Given the description of an element on the screen output the (x, y) to click on. 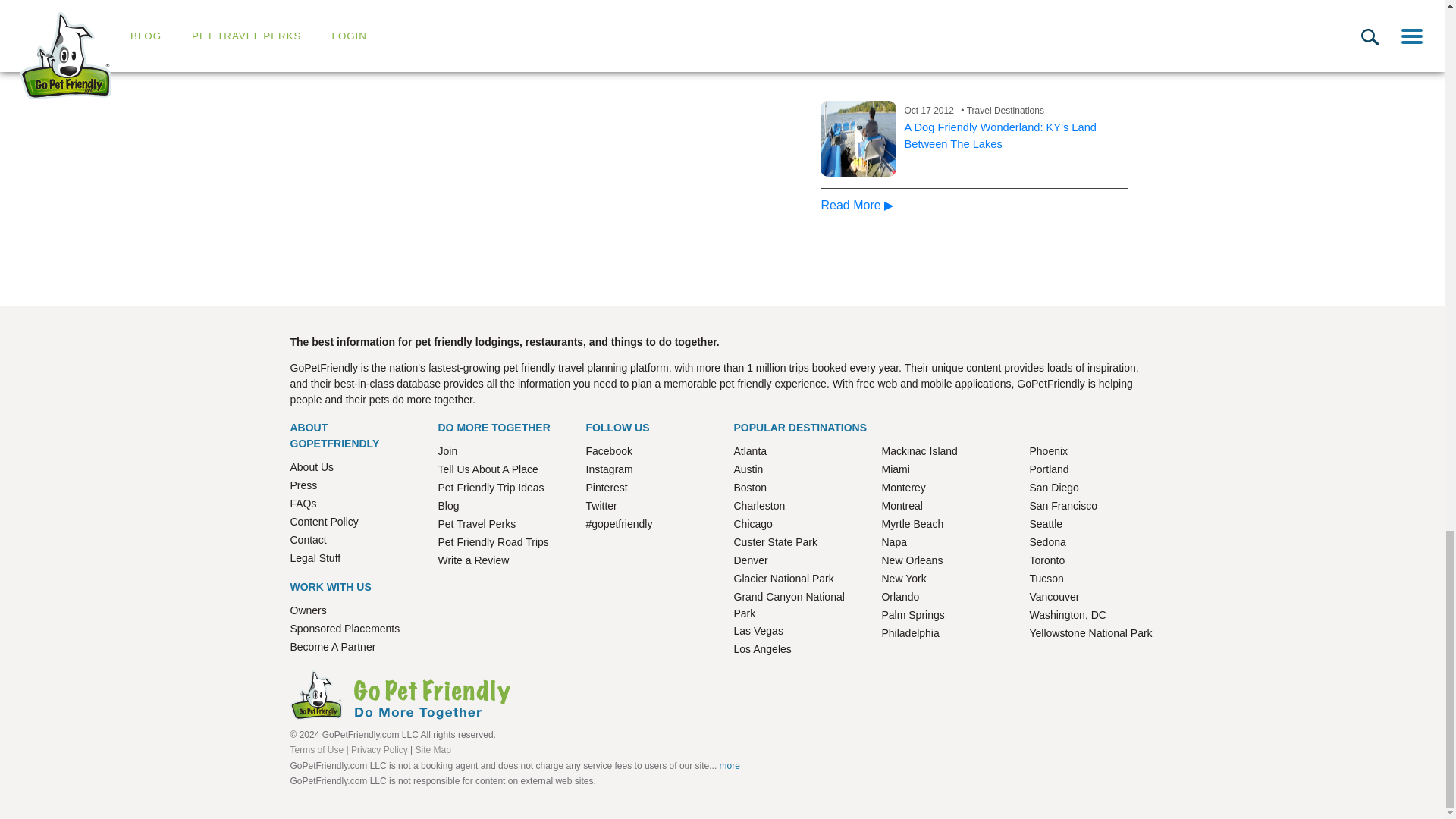
Revisiting Pet Friendly St. Charles, MO (858, 31)
A Dog Friendly Wonderland: KY's Land Between The Lakes (858, 138)
